Given the description of an element on the screen output the (x, y) to click on. 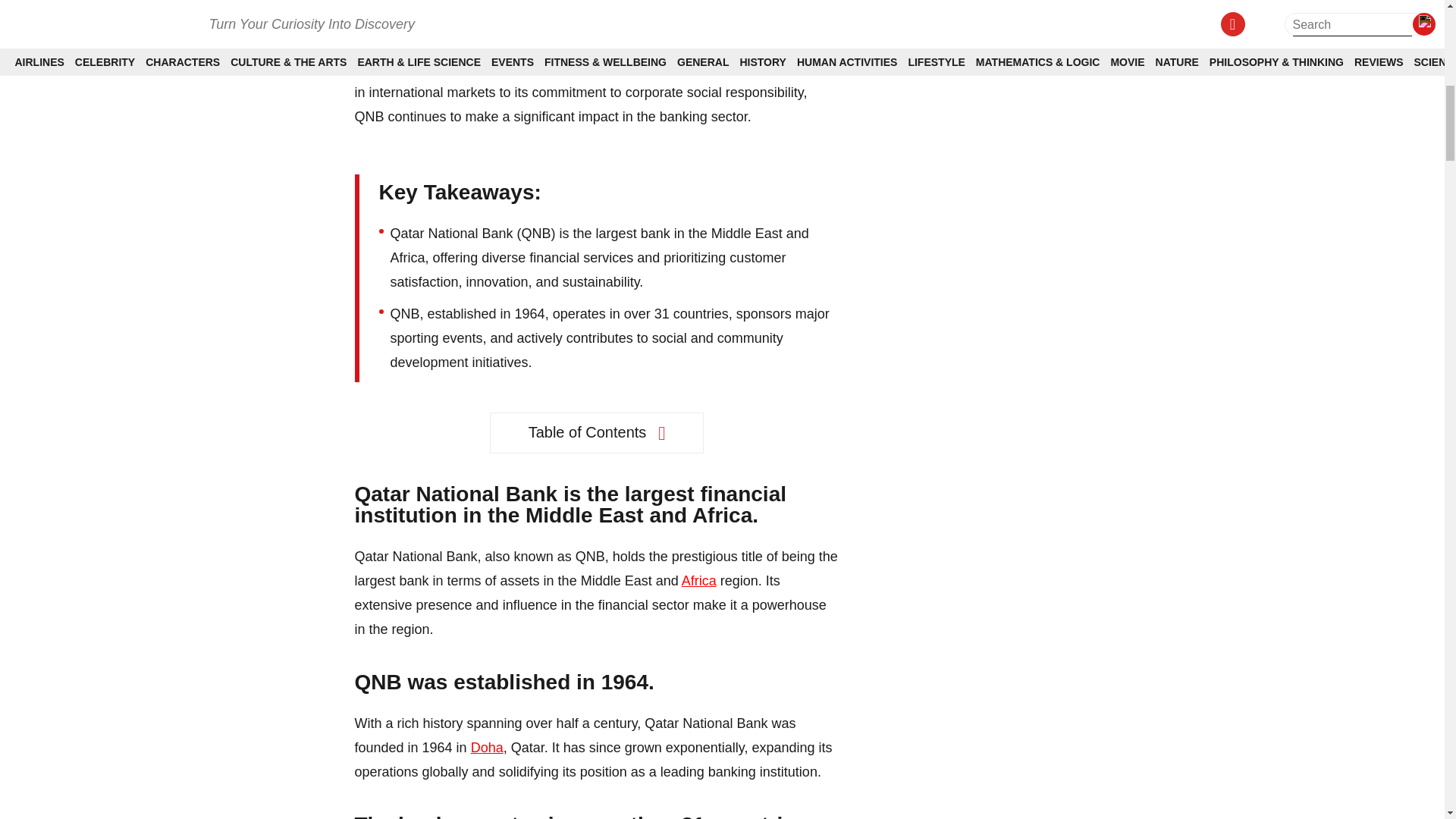
Africa (698, 580)
Doha (486, 747)
Qatar (720, 43)
